Given the description of an element on the screen output the (x, y) to click on. 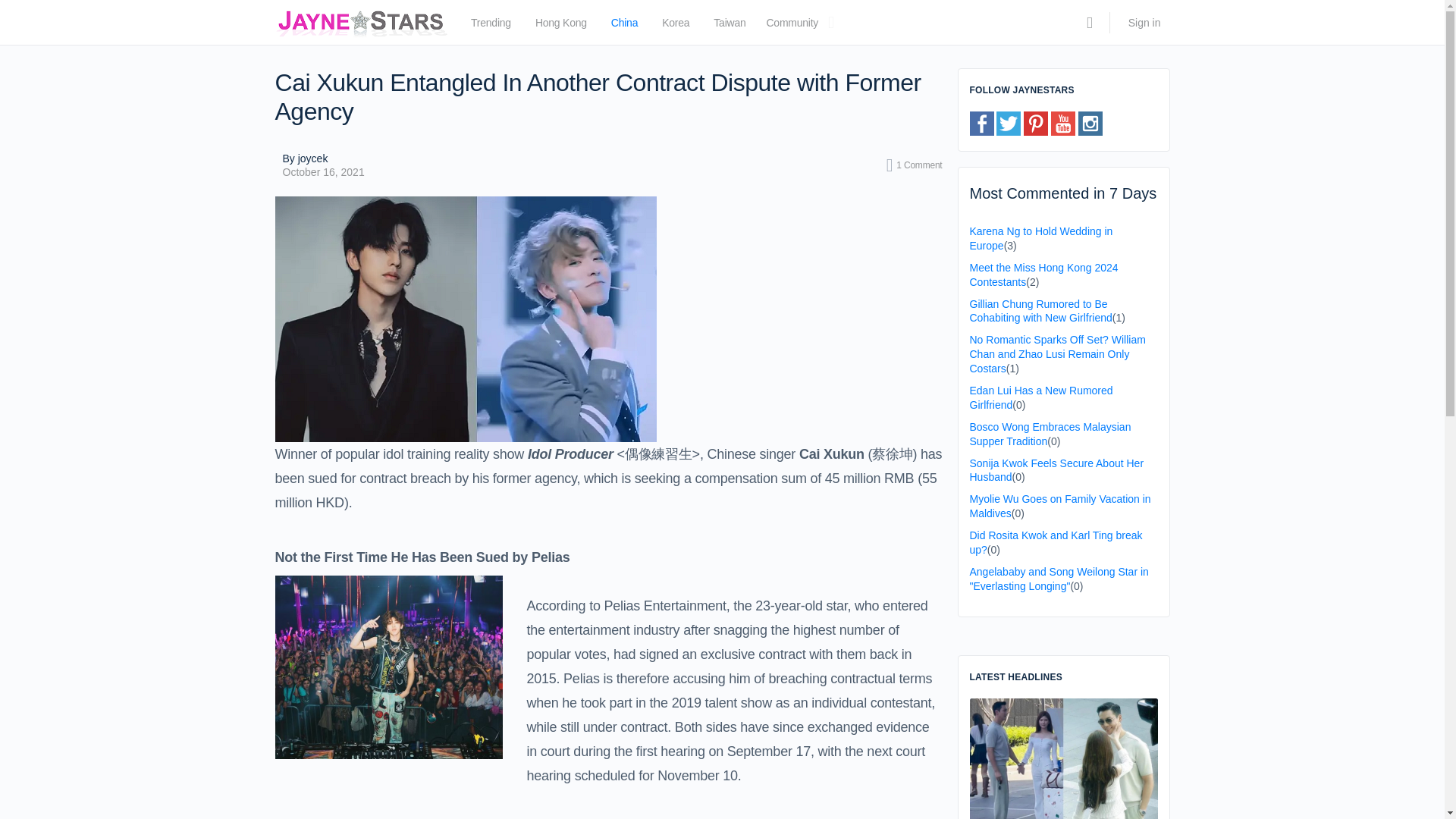
Community (791, 25)
Twitter (1007, 122)
1 Comment (914, 165)
Instagram (1090, 122)
By joycek (323, 158)
October 16, 2021 (323, 172)
Sign in (1144, 22)
Hong Kong (560, 25)
Facebook (980, 122)
Youtube (1063, 122)
Pinterest (1035, 122)
